Given the description of an element on the screen output the (x, y) to click on. 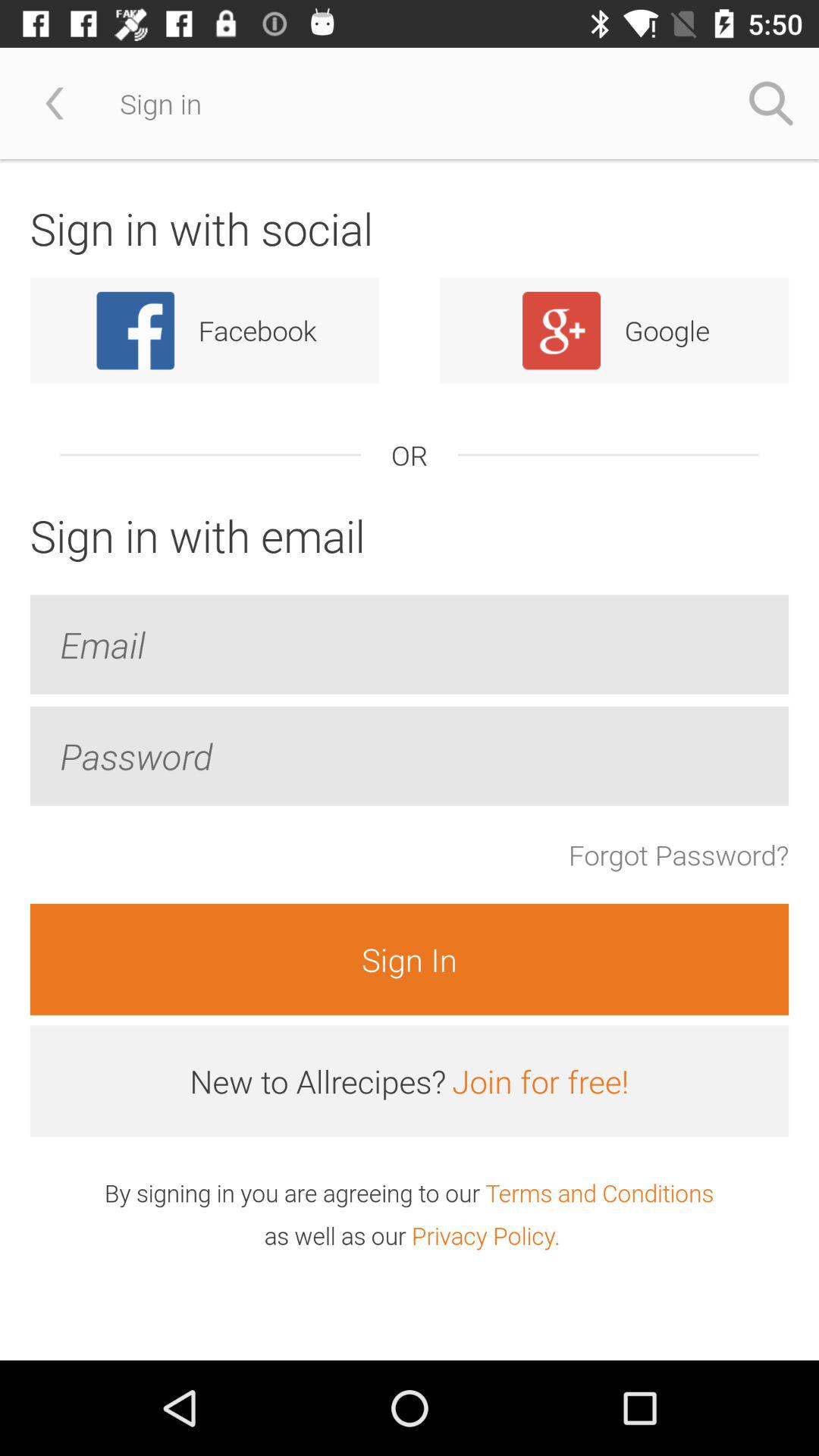
launch the item below the sign in icon (540, 1080)
